Given the description of an element on the screen output the (x, y) to click on. 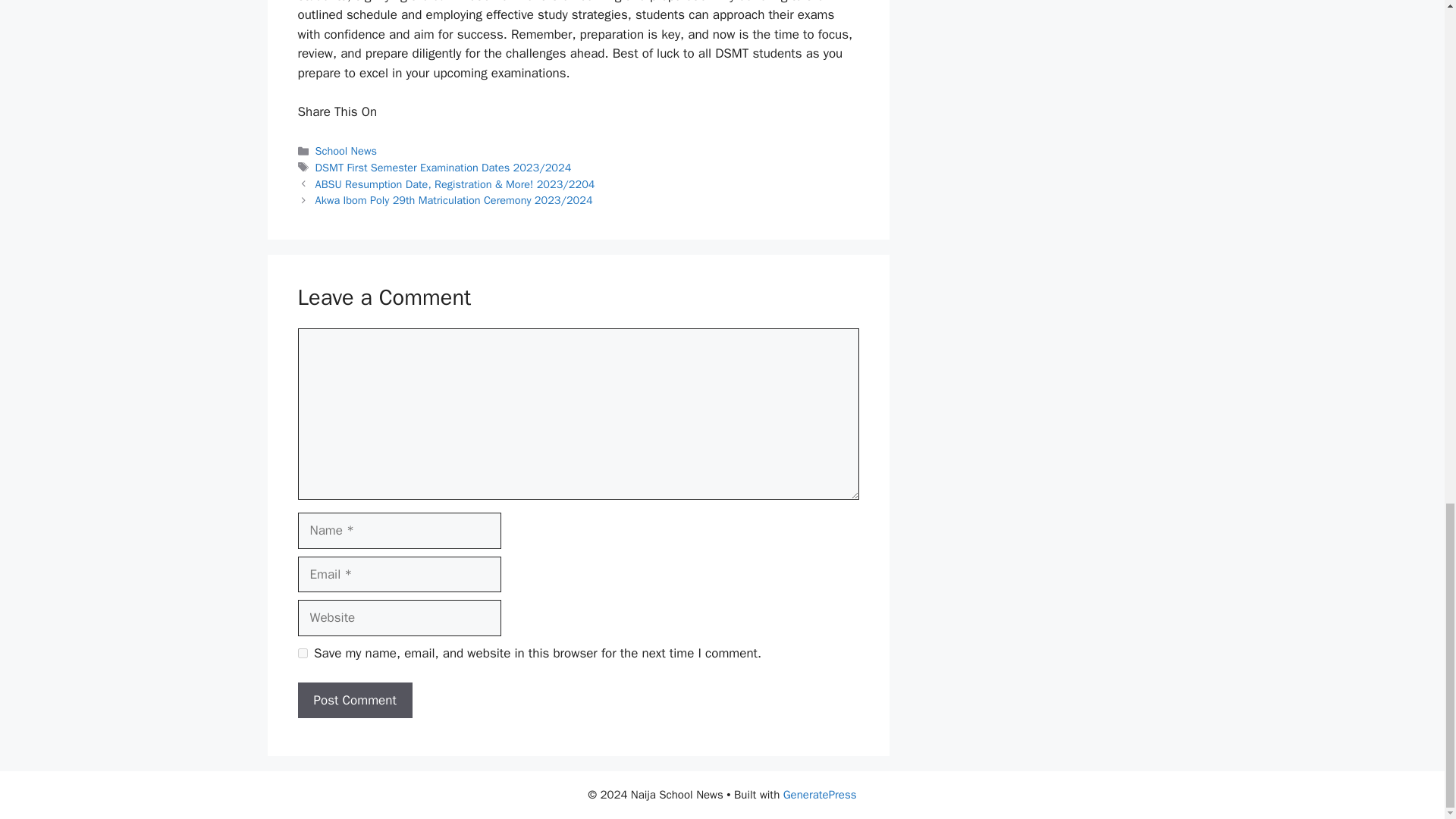
GeneratePress (820, 794)
Post Comment (354, 700)
Post Comment (354, 700)
School News (346, 151)
yes (302, 653)
